Given the description of an element on the screen output the (x, y) to click on. 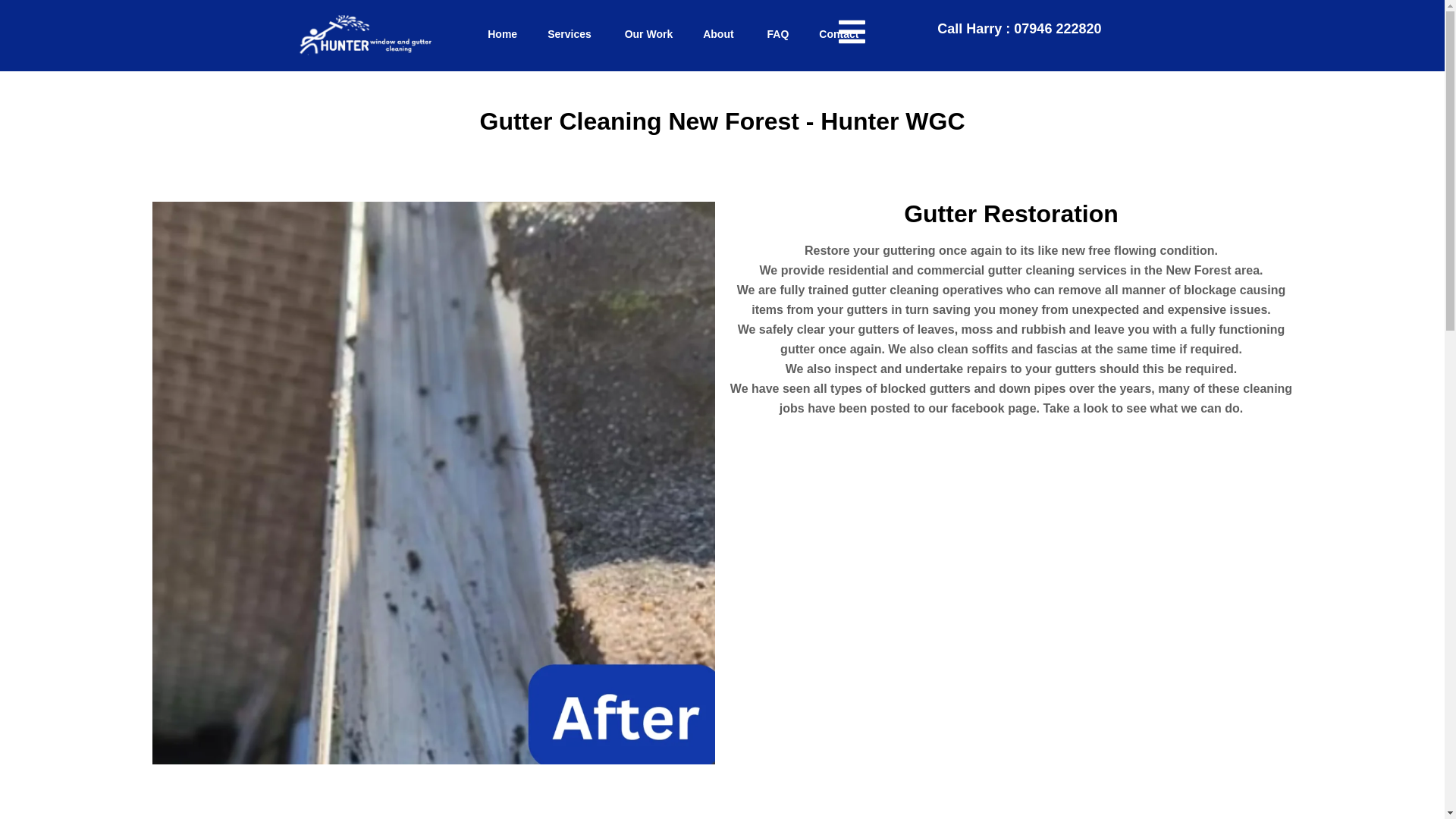
Services  (571, 34)
Humberger Toggle Menu (851, 34)
Our Work (649, 34)
FAQ (778, 34)
About  (719, 34)
Contact  (839, 34)
Home (501, 34)
